Given the description of an element on the screen output the (x, y) to click on. 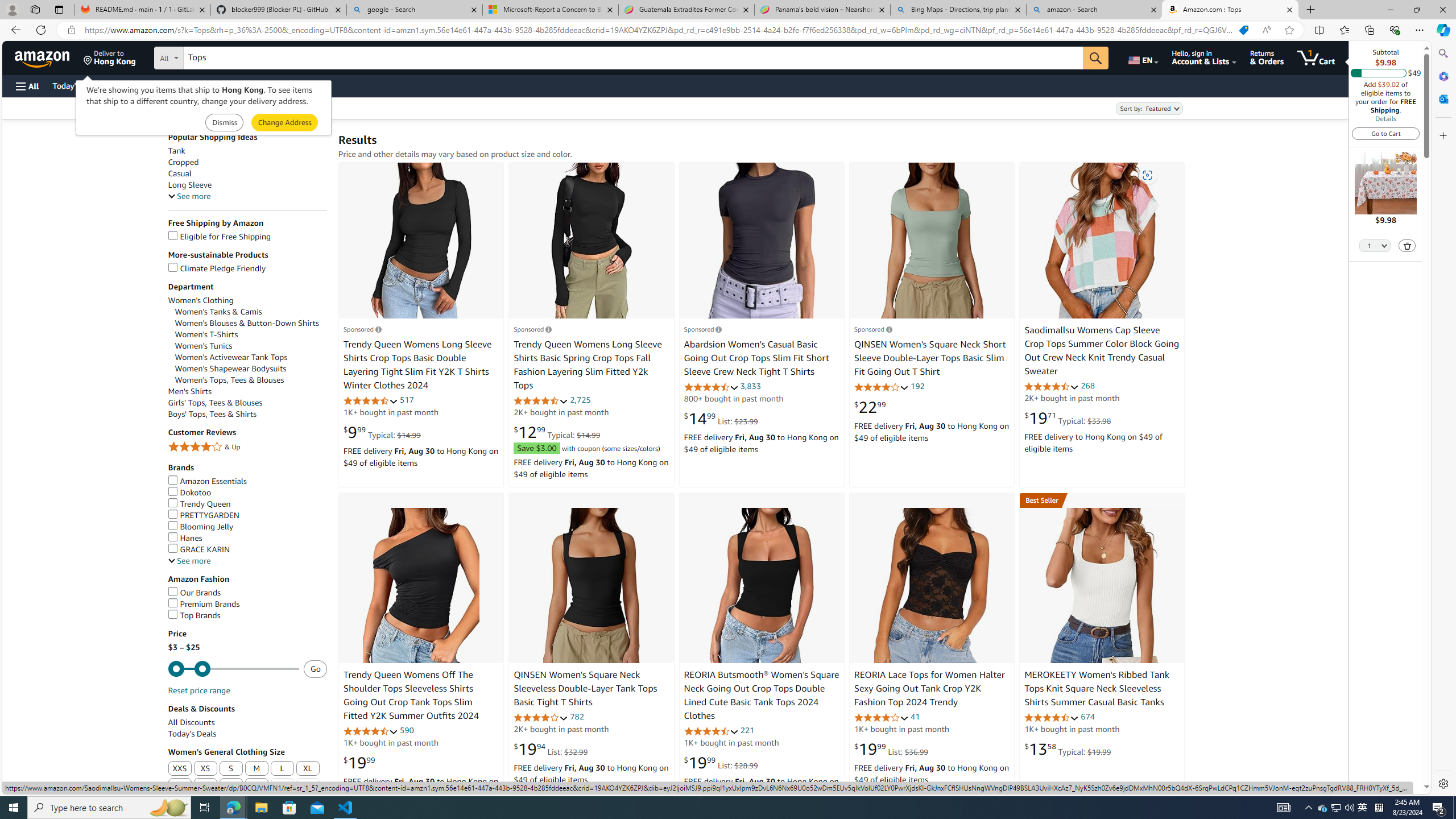
$19.99 List: $36.99 (890, 748)
PRETTYGARDEN (202, 514)
Boys' Tops, Tees & Shirts (247, 414)
4.6 out of 5 stars (711, 730)
Casual (247, 173)
$19.99 (359, 762)
Tank (175, 150)
XL (307, 768)
4XL (230, 785)
Today's Deals (247, 733)
Amazon (43, 57)
